Given the description of an element on the screen output the (x, y) to click on. 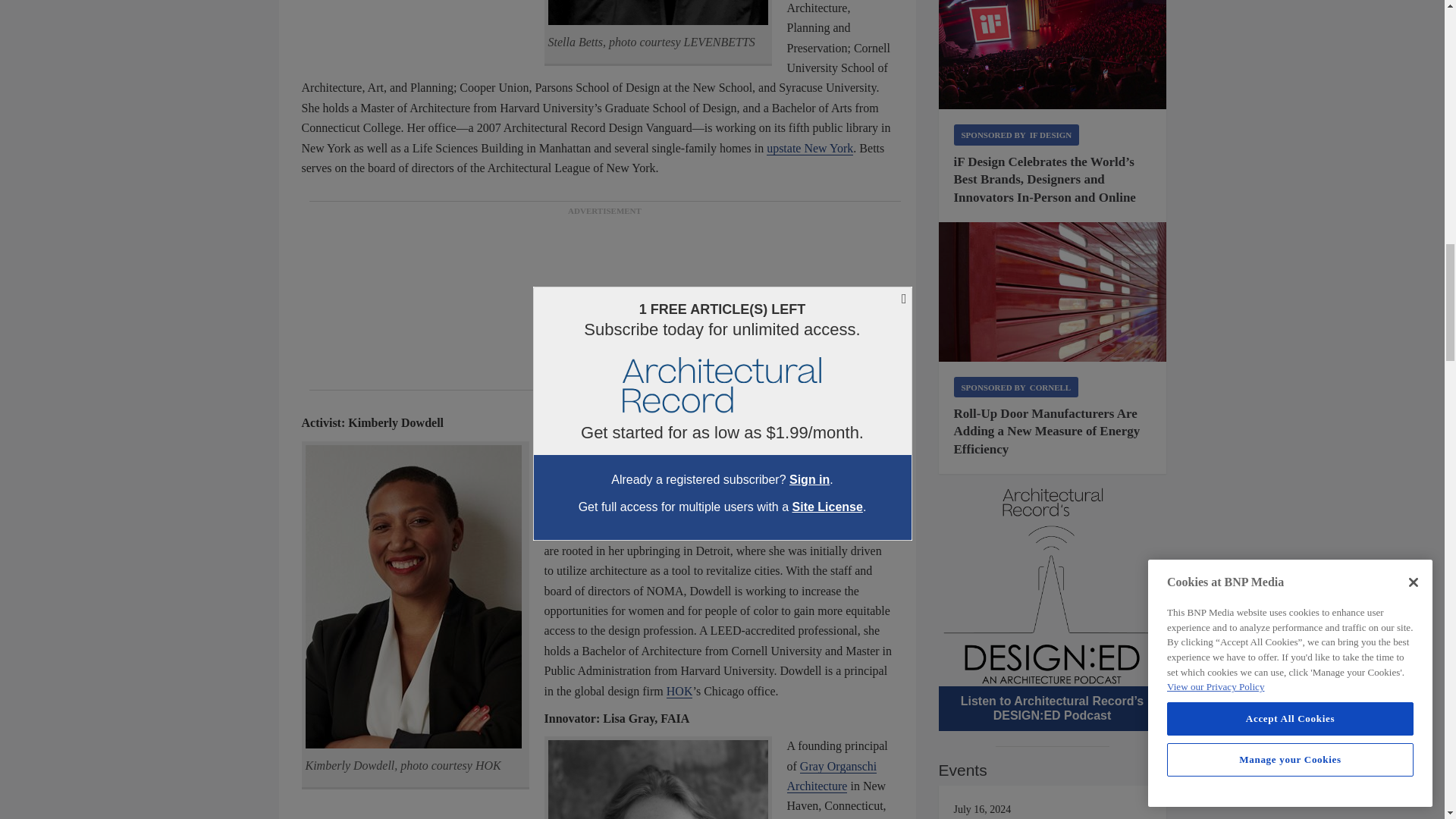
iF Design Awards (1052, 54)
Sponsored by Cornell (1015, 386)
Sponsored by iF Design (1016, 134)
Clopay Thermiser Max (1052, 291)
